Given the description of an element on the screen output the (x, y) to click on. 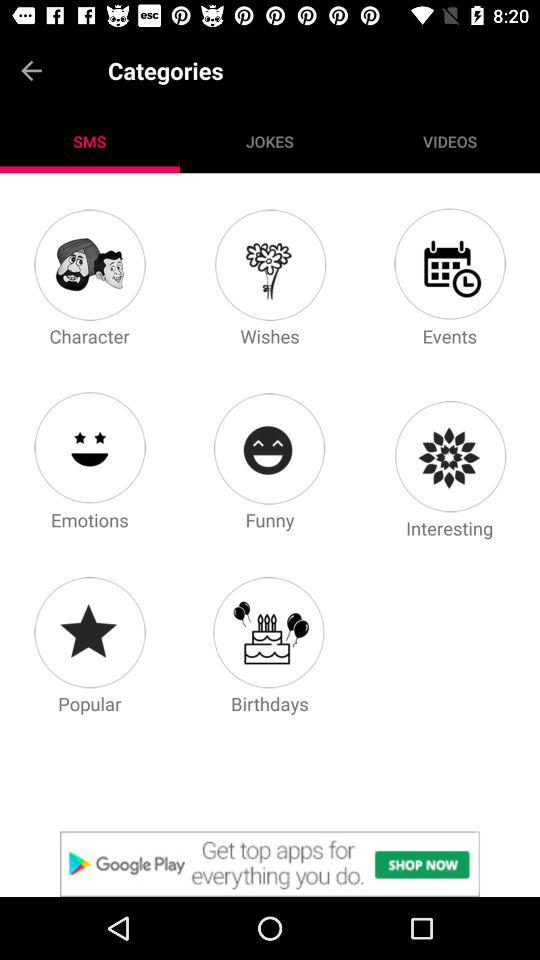
look at events (449, 264)
